Given the description of an element on the screen output the (x, y) to click on. 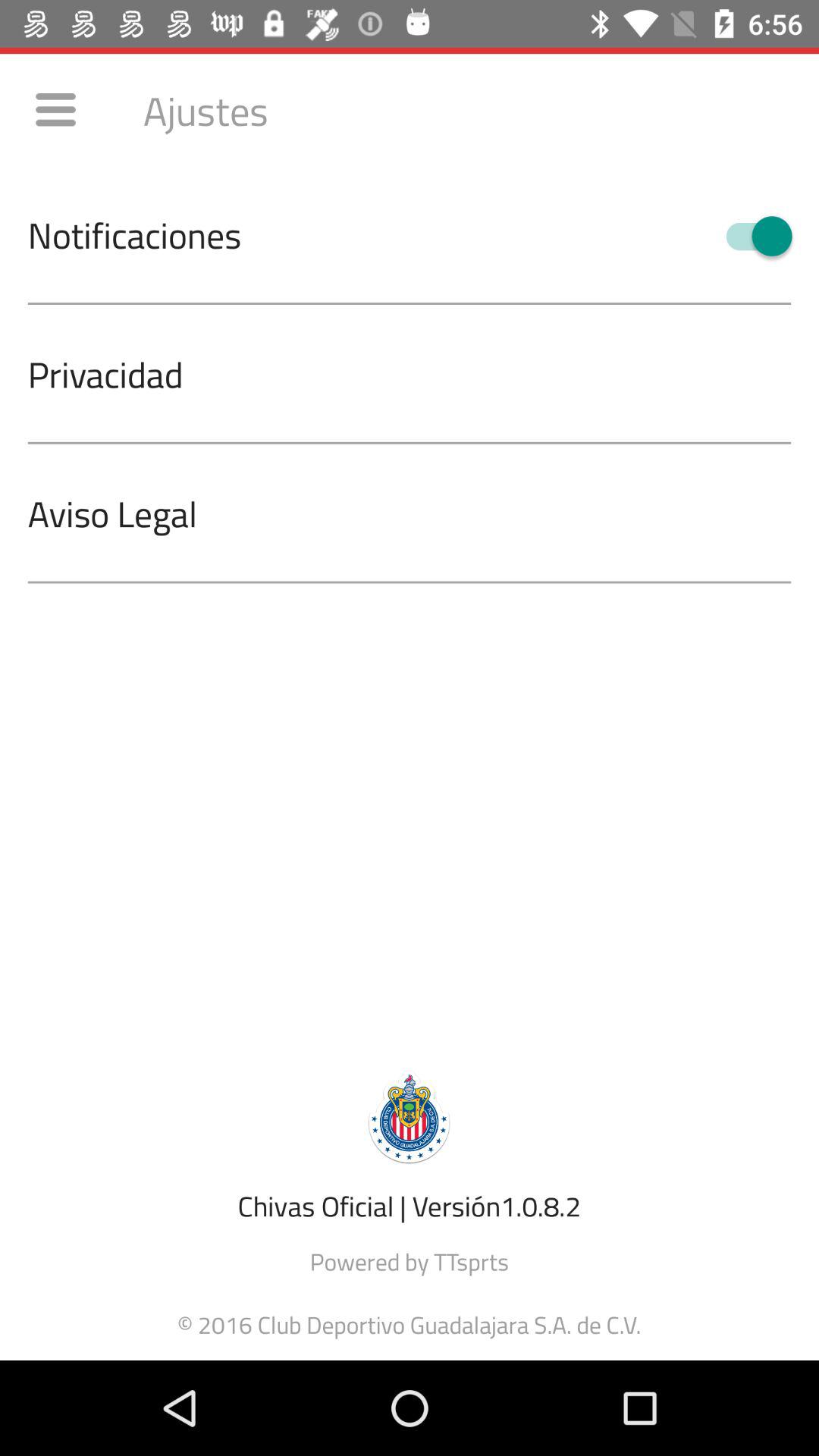
launch privacidad icon (423, 373)
